Given the description of an element on the screen output the (x, y) to click on. 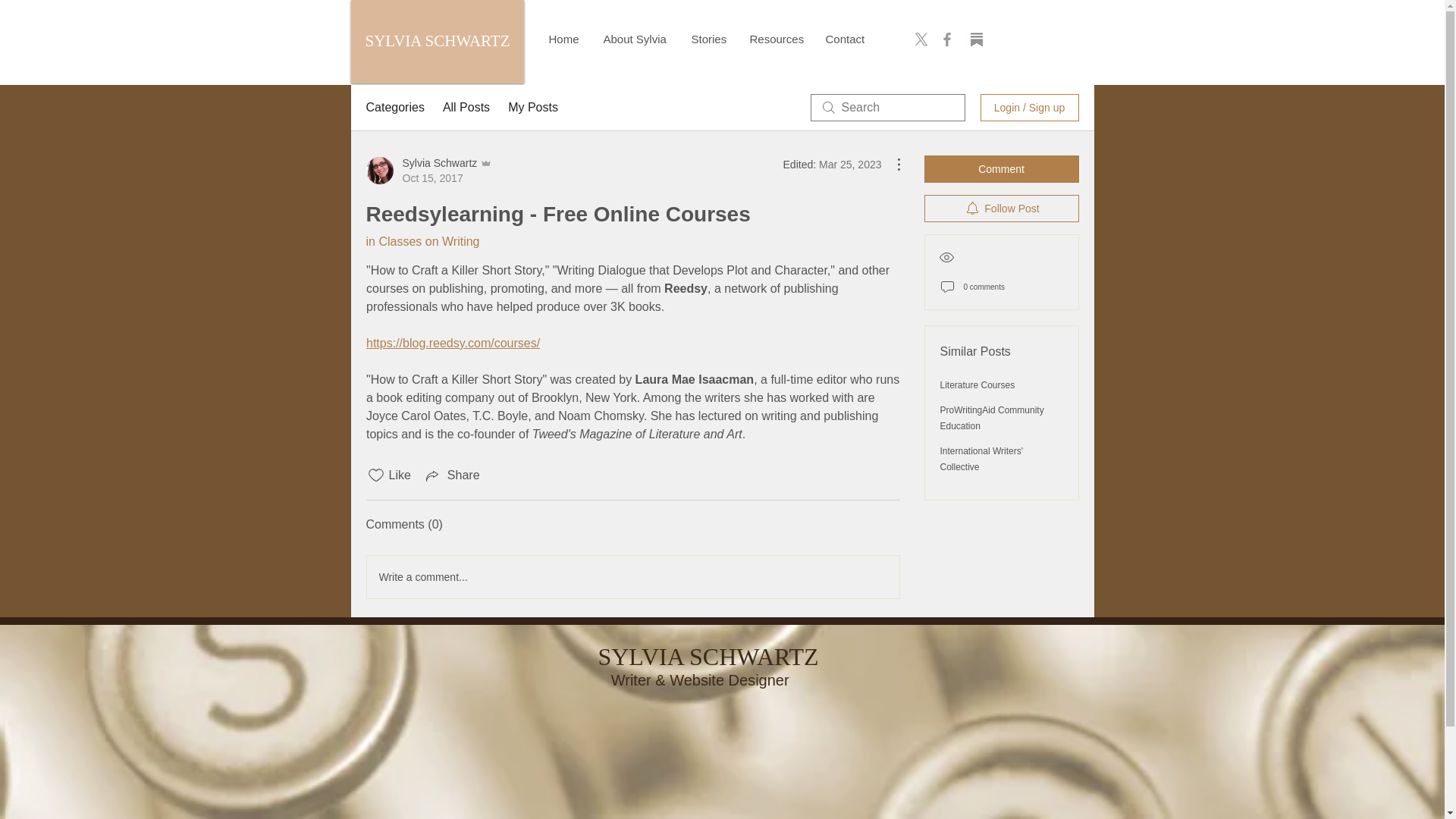
SYLVIA SCHWARTZ (437, 40)
  SYLVIA SCHWARTZ   (707, 656)
Home (564, 38)
Write a comment... (632, 577)
Resources (775, 38)
Literature Courses (977, 385)
Categories (394, 107)
Follow Post (1000, 207)
My Posts (532, 107)
ProWritingAid Community Education (991, 417)
